Given the description of an element on the screen output the (x, y) to click on. 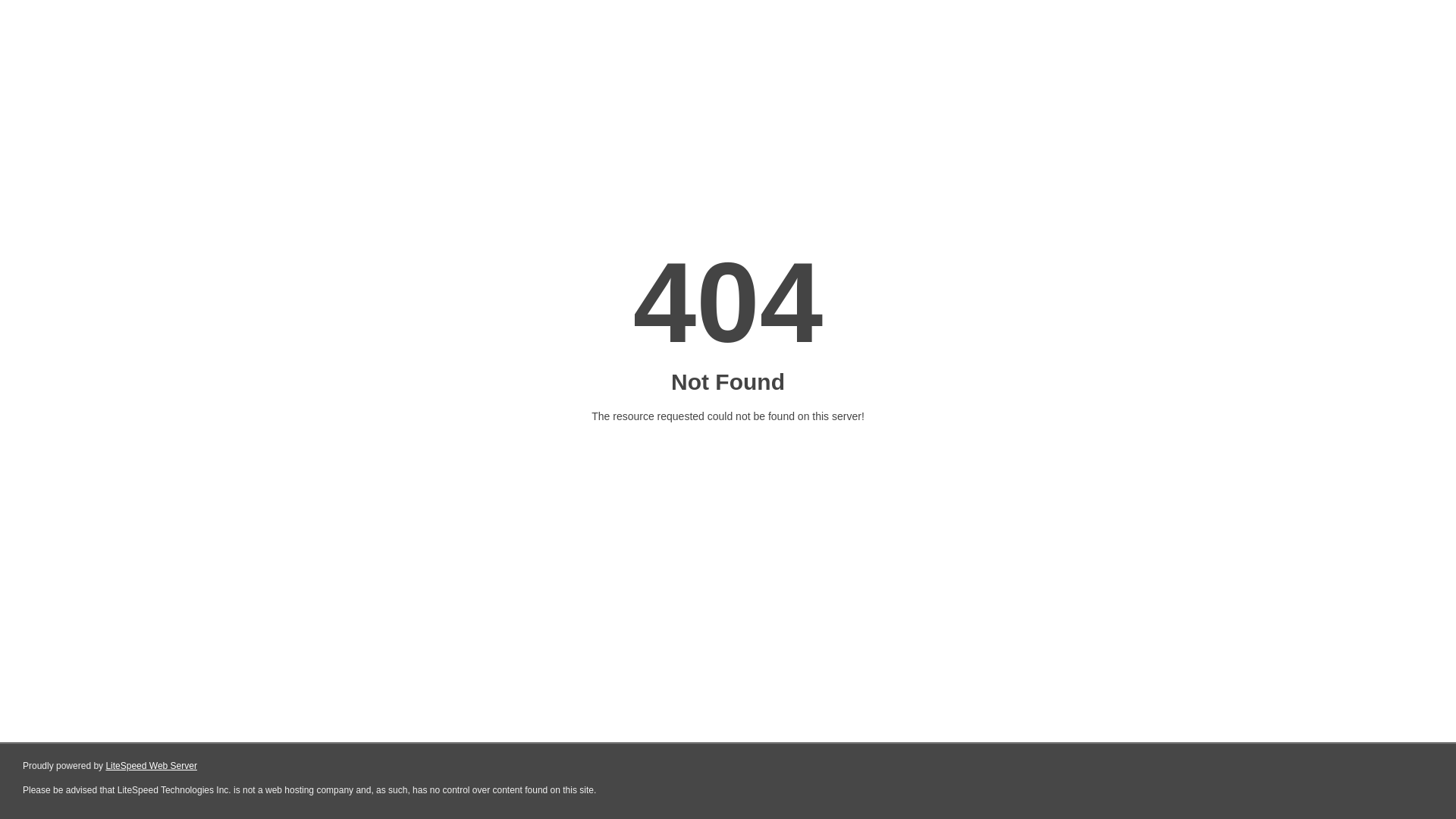
LiteSpeed Web Server Element type: text (151, 765)
